Given the description of an element on the screen output the (x, y) to click on. 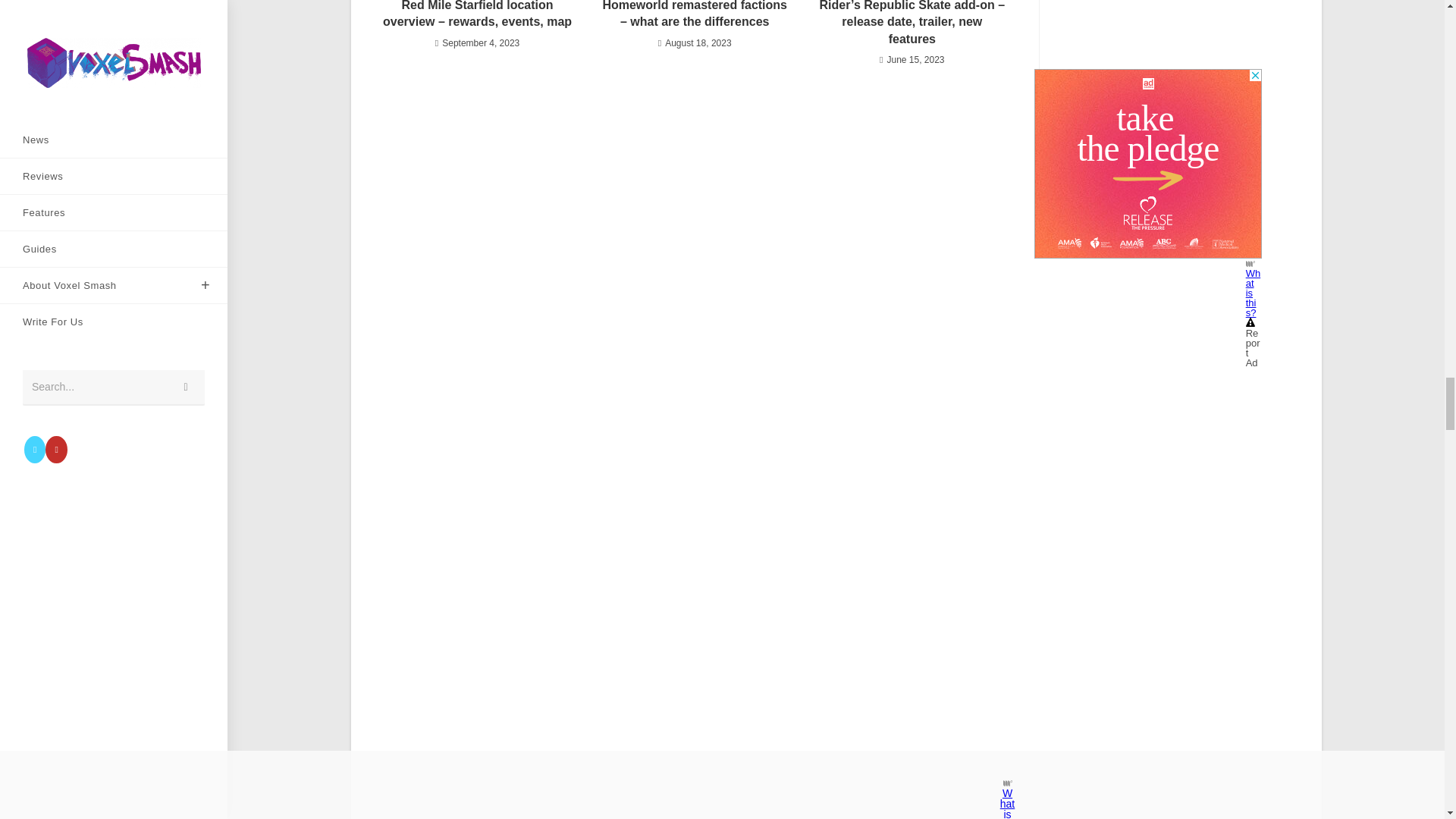
3rd party ad content (1147, 163)
